Given the description of an element on the screen output the (x, y) to click on. 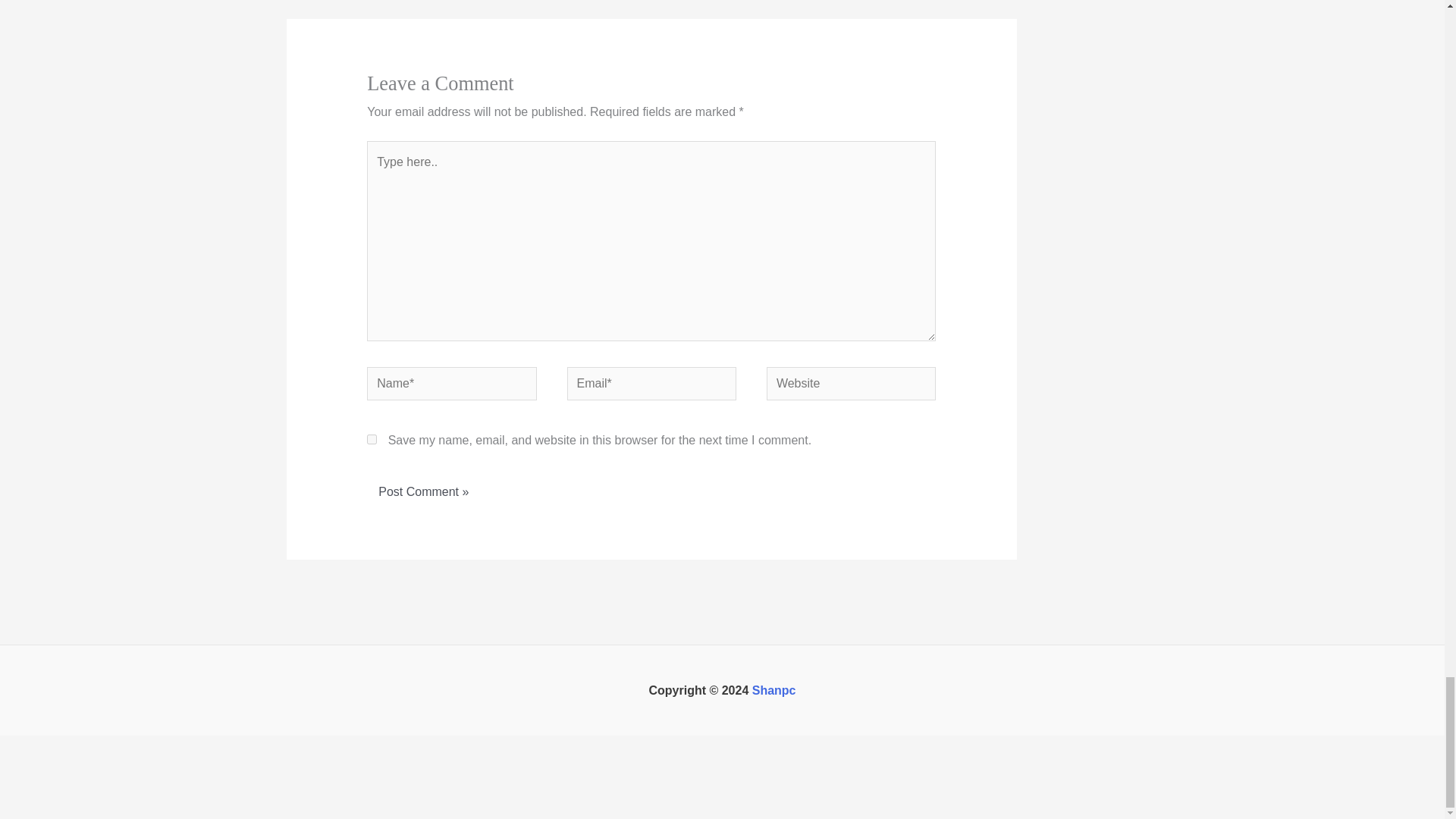
yes (371, 439)
